Given the description of an element on the screen output the (x, y) to click on. 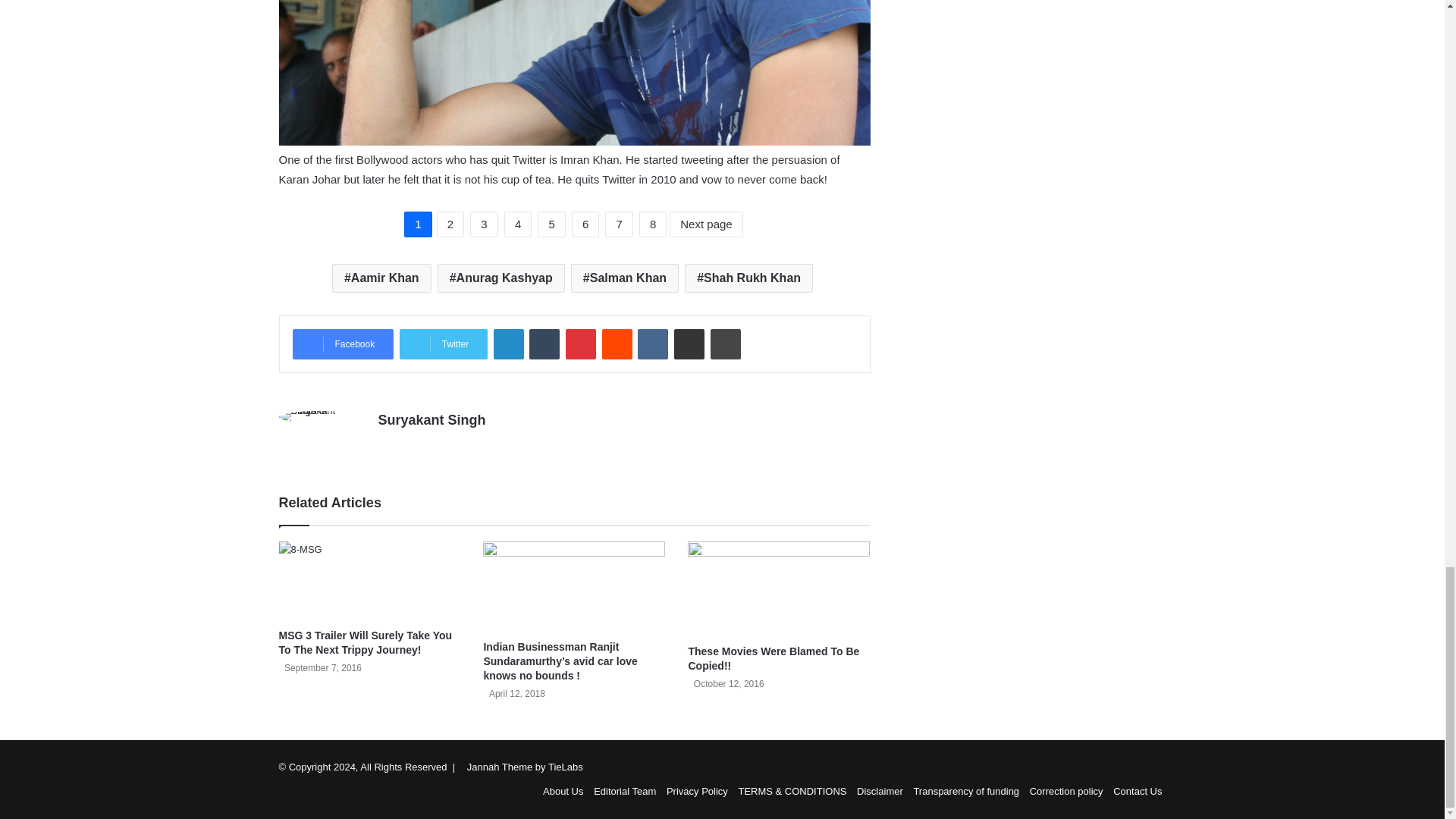
4 (517, 224)
Pinterest (580, 344)
VKontakte (652, 344)
LinkedIn (508, 344)
5 (550, 224)
Twitter (442, 344)
2 (450, 224)
Print (725, 344)
Facebook (343, 344)
Share via Email (689, 344)
Reddit (616, 344)
Tumblr (544, 344)
8 (652, 224)
6 (585, 224)
7 (618, 224)
